Given the description of an element on the screen output the (x, y) to click on. 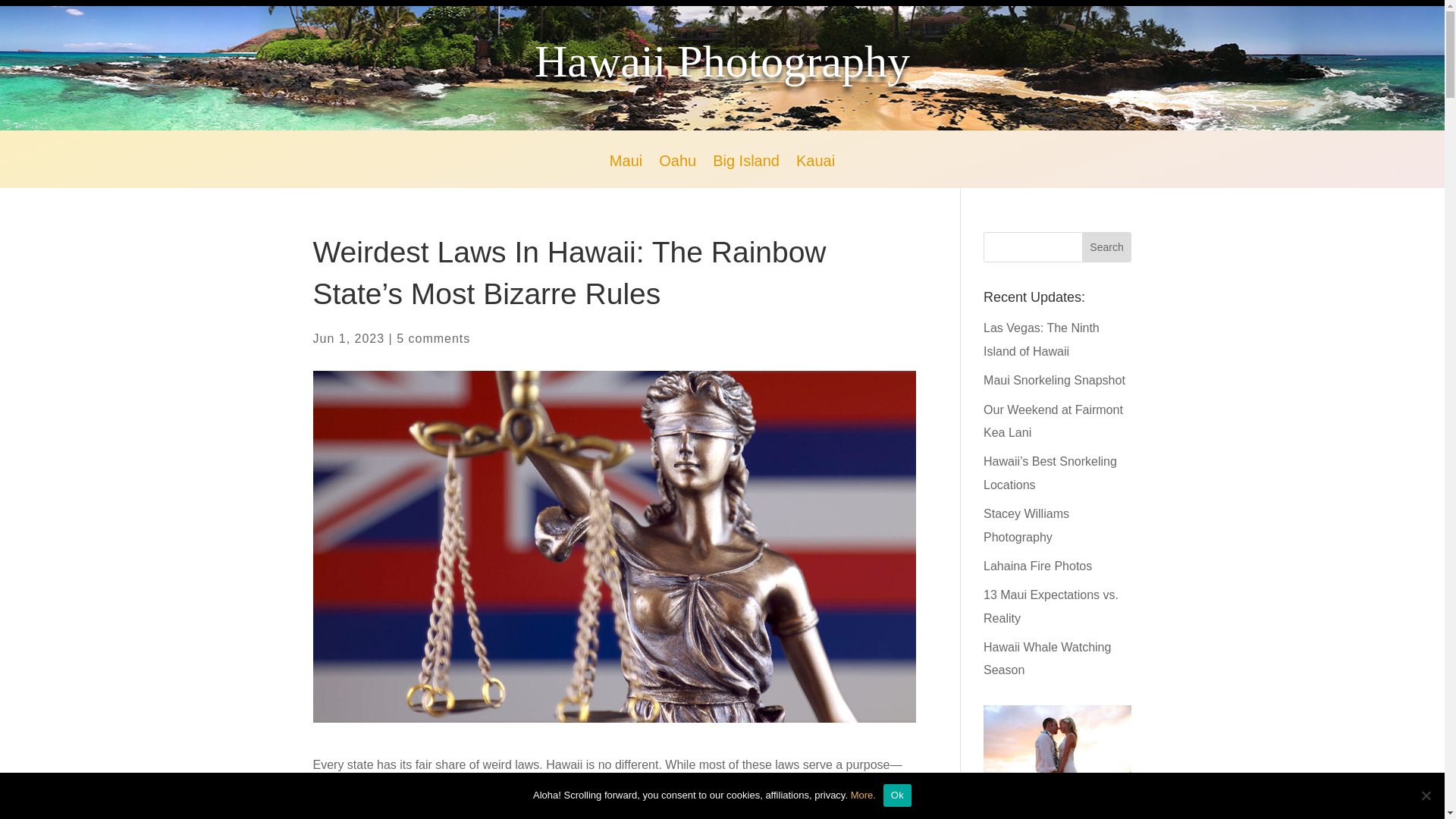
Search (1106, 246)
Lahaina Fire Photos (1038, 565)
5 comments (433, 338)
Big Island (745, 171)
No (1425, 795)
Oahu (677, 171)
Hawaii Whale Watching Season (1047, 658)
Hawaii Photography (722, 61)
Kauai (815, 171)
Maui Snorkeling Snapshot (1054, 379)
Maui (626, 171)
Our Weekend at Fairmont Kea Lani (1053, 420)
Stacey Williams Photography (1026, 524)
More. (863, 794)
13 Maui Expectations vs. Reality (1051, 606)
